Given the description of an element on the screen output the (x, y) to click on. 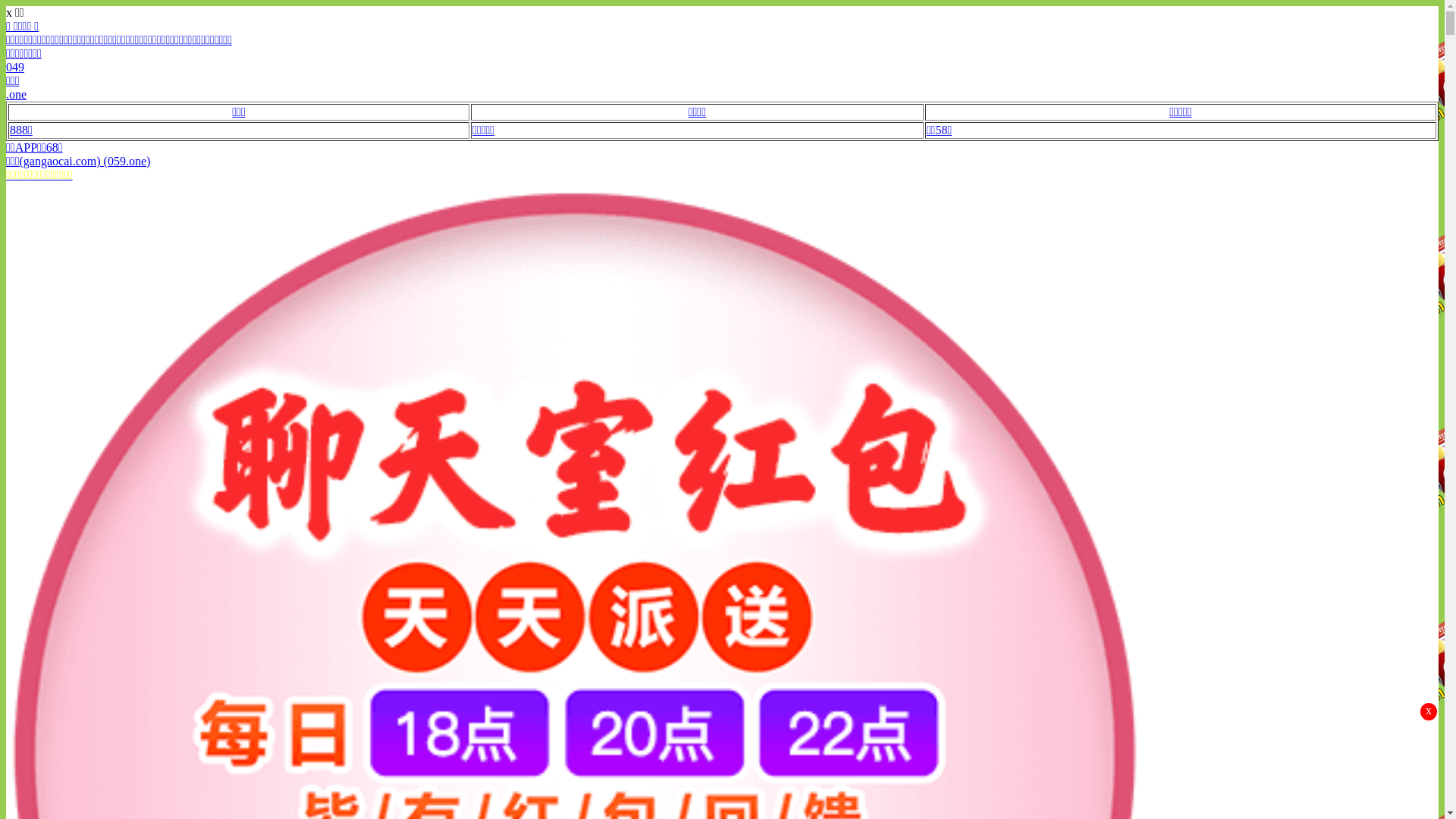
x Element type: text (1428, 711)
